Given the description of an element on the screen output the (x, y) to click on. 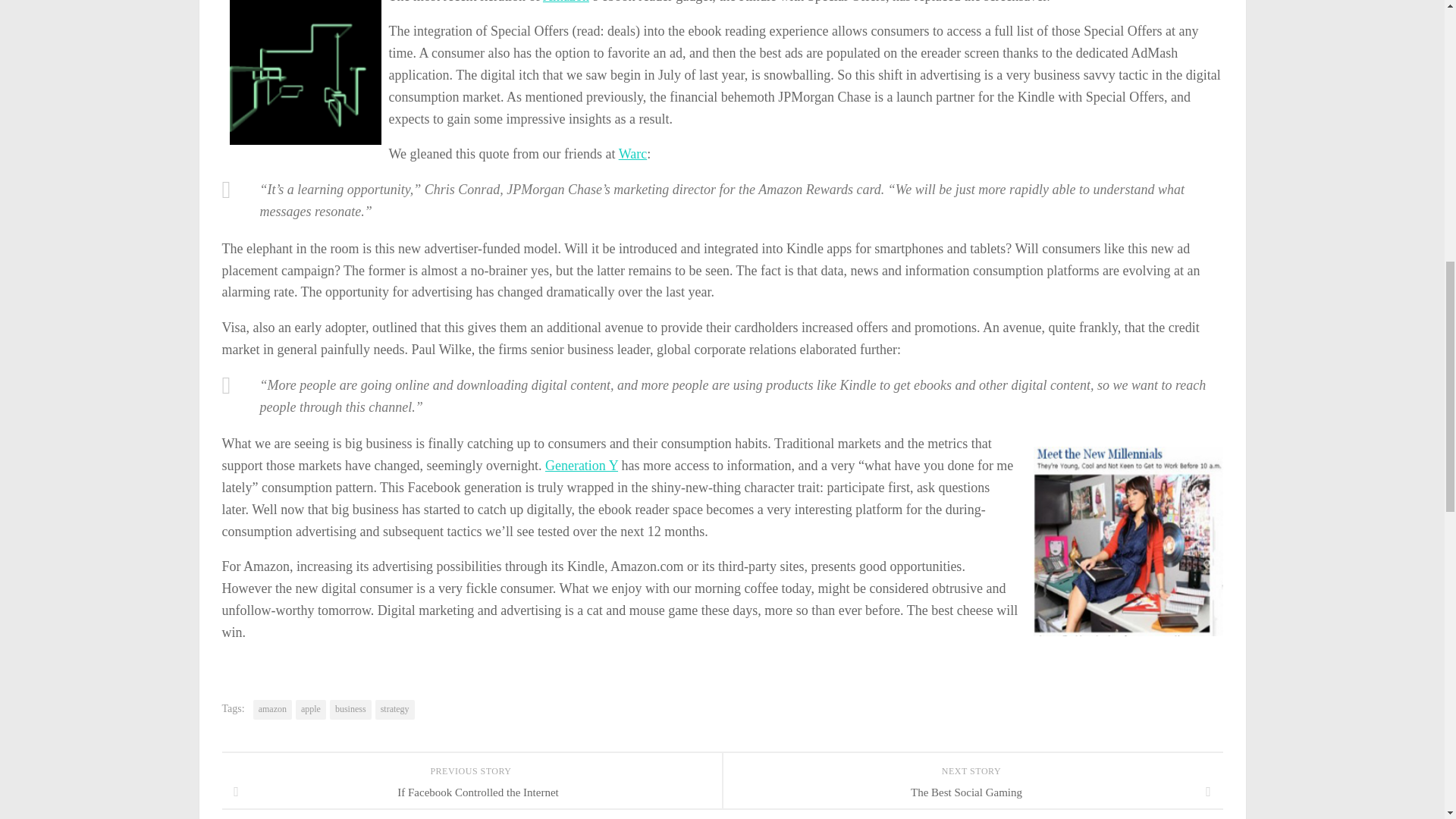
Millennials, Gen Y, Facebook, Twitter (1127, 541)
screensaver (304, 72)
